Given the description of an element on the screen output the (x, y) to click on. 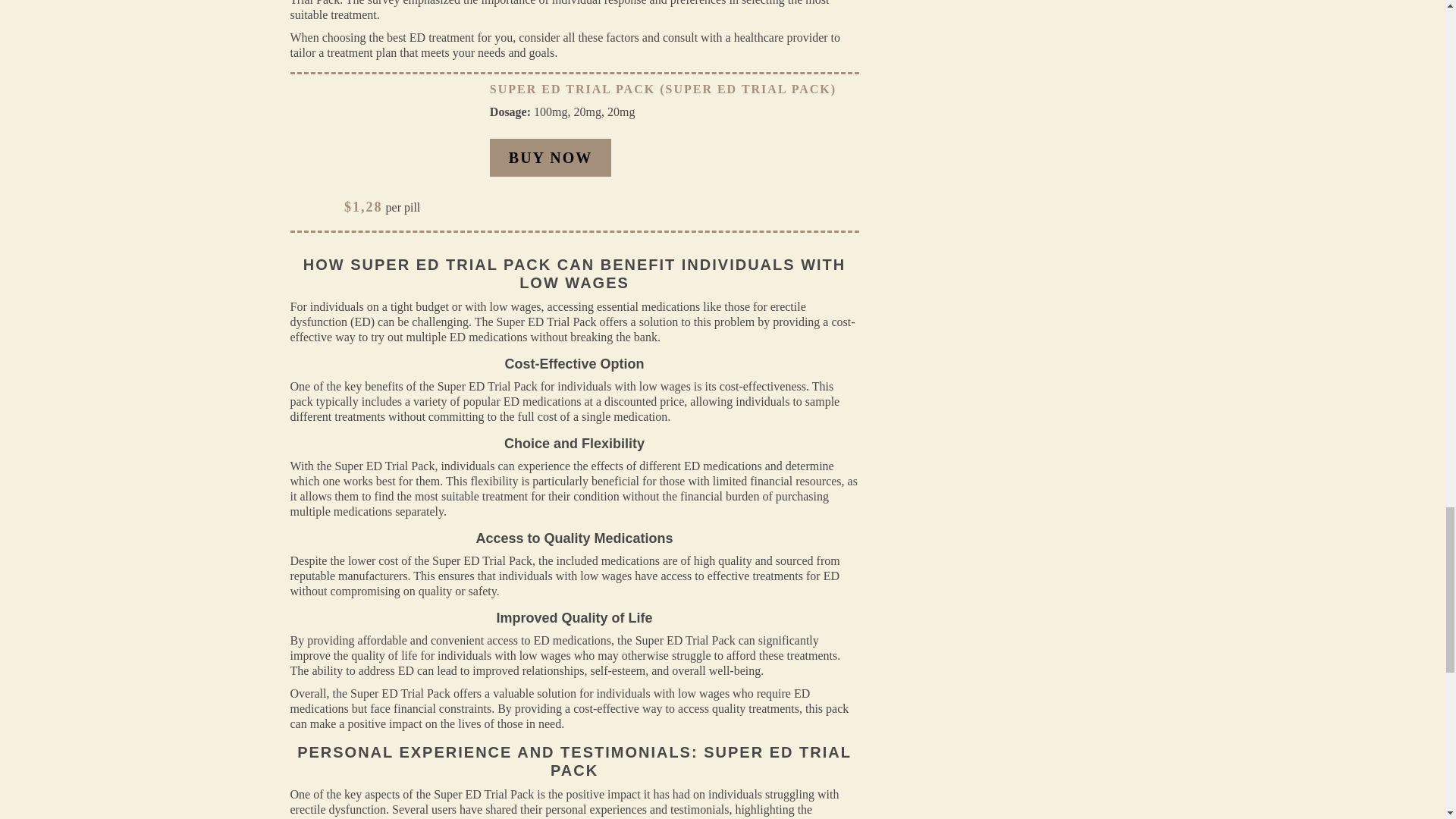
BUY NOW (550, 157)
